Given the description of an element on the screen output the (x, y) to click on. 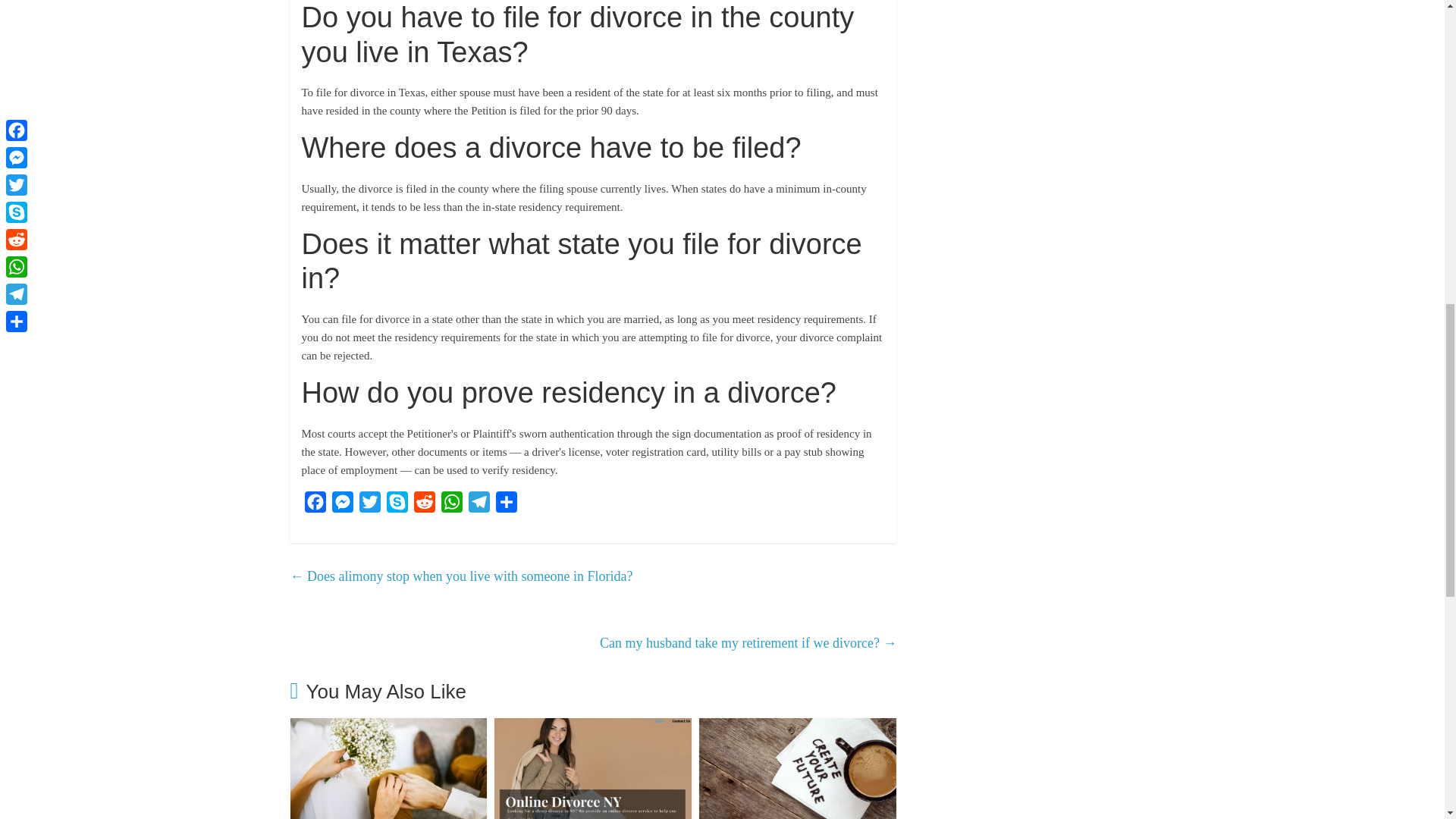
Telegram (479, 505)
Facebook (315, 505)
Reddit (424, 505)
Twitter (370, 505)
Telegram (479, 505)
Messenger (342, 505)
Facebook (315, 505)
Reddit (424, 505)
Skype (397, 505)
Skype (397, 505)
WhatsApp (451, 505)
Messenger (342, 505)
Twitter (370, 505)
WhatsApp (451, 505)
